Given the description of an element on the screen output the (x, y) to click on. 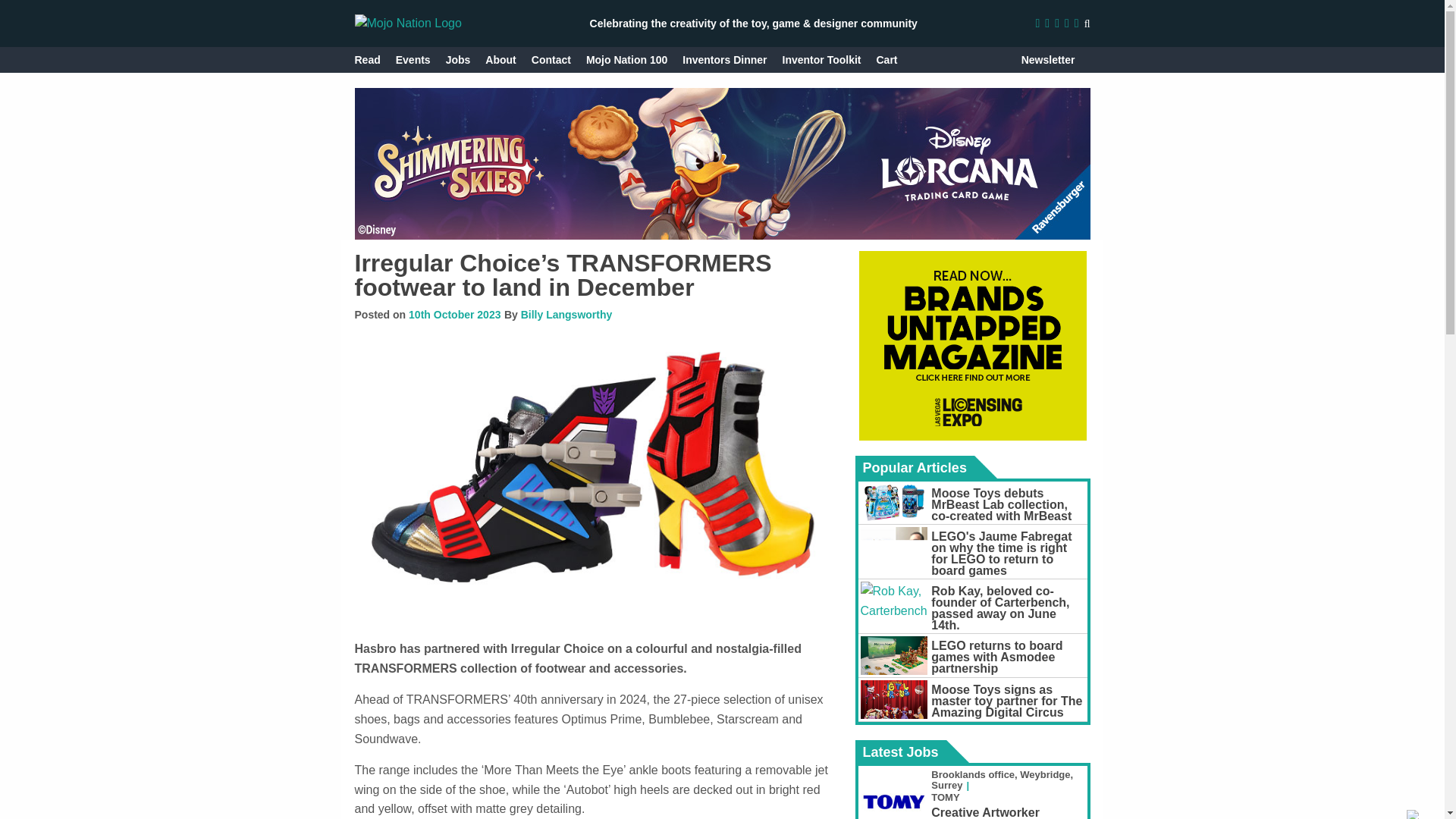
Contact (550, 59)
Newsletter (1048, 59)
Inventor Toolkit (822, 59)
Mojo Nation 100 (626, 59)
Inventors Dinner (724, 59)
Events (413, 59)
Jobs (457, 59)
About (499, 59)
Mojo Nation (408, 22)
Read (367, 59)
